Given the description of an element on the screen output the (x, y) to click on. 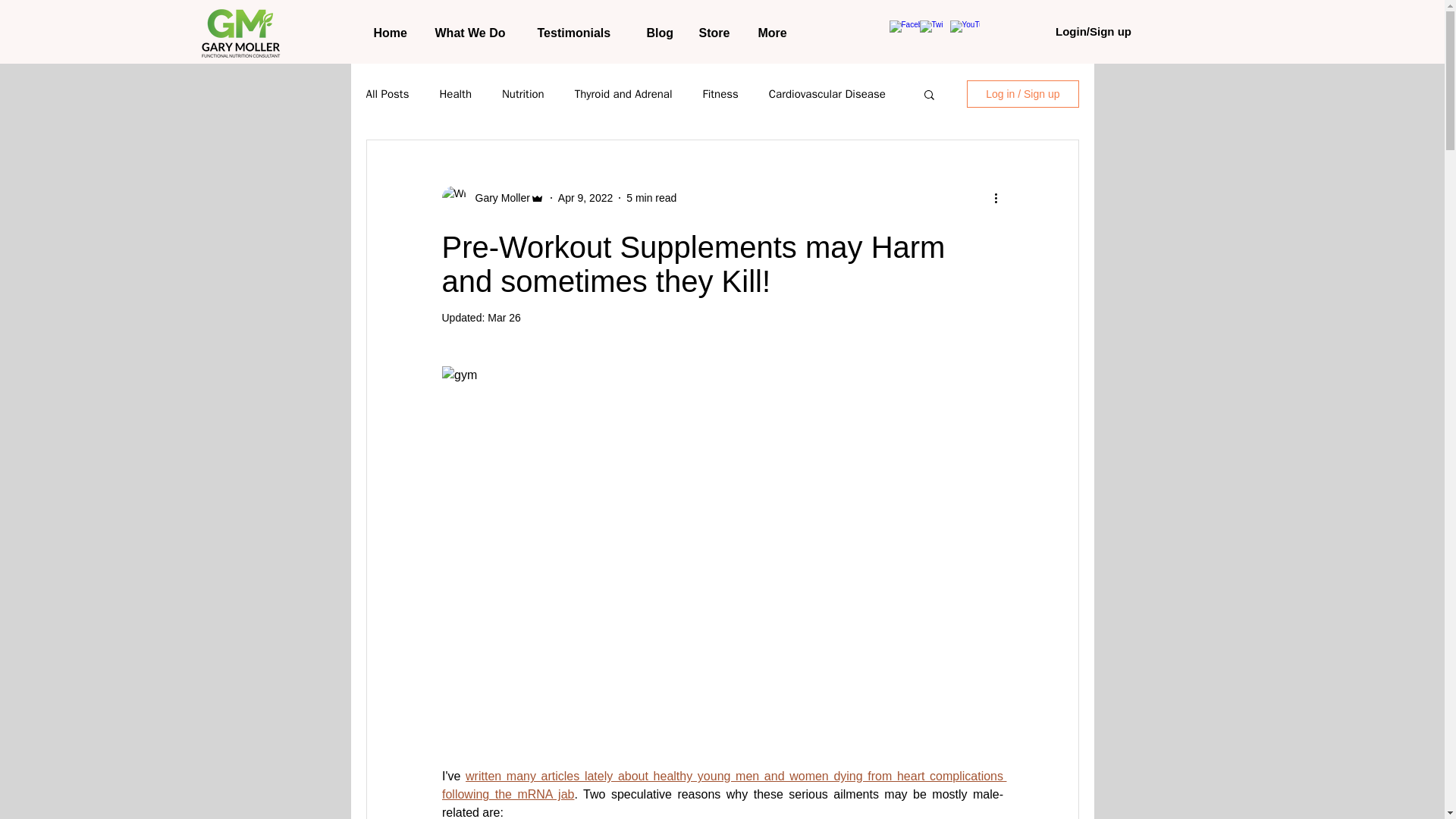
Nutrition (523, 93)
All Posts (387, 93)
What We Do (474, 33)
Mar 26 (504, 317)
Apr 9, 2022 (584, 196)
Cardiovascular Disease (826, 93)
Health (455, 93)
Fitness (719, 93)
Store (716, 33)
5 min read (651, 196)
